Given the description of an element on the screen output the (x, y) to click on. 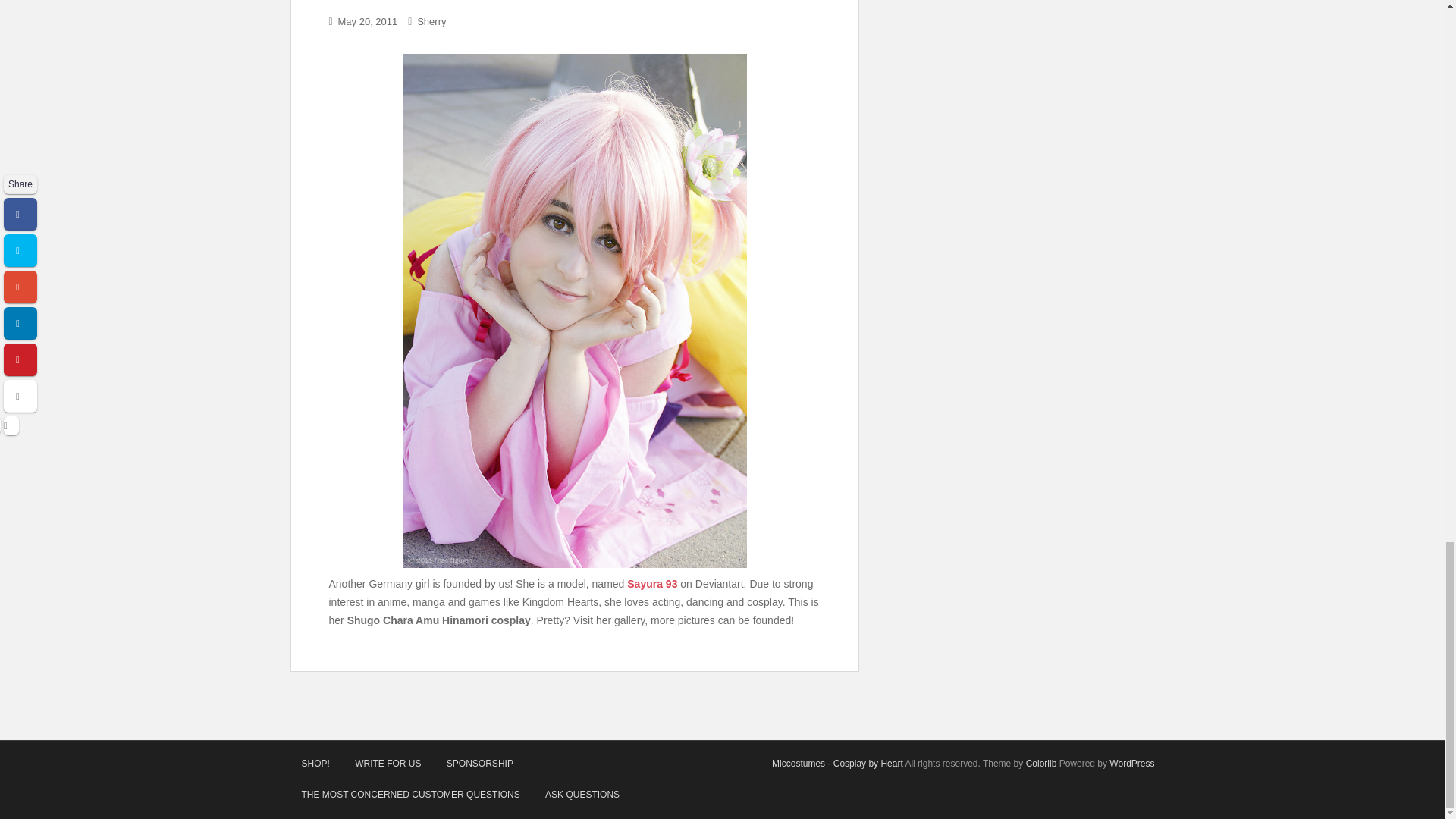
Sherry (430, 21)
WRITE FOR US (387, 763)
Sayura 93 (652, 583)
Miccostumes - Cosplay by Heart (836, 763)
May 20, 2011 (367, 21)
SHOP! (314, 763)
SPONSORSHIP (479, 763)
